Given the description of an element on the screen output the (x, y) to click on. 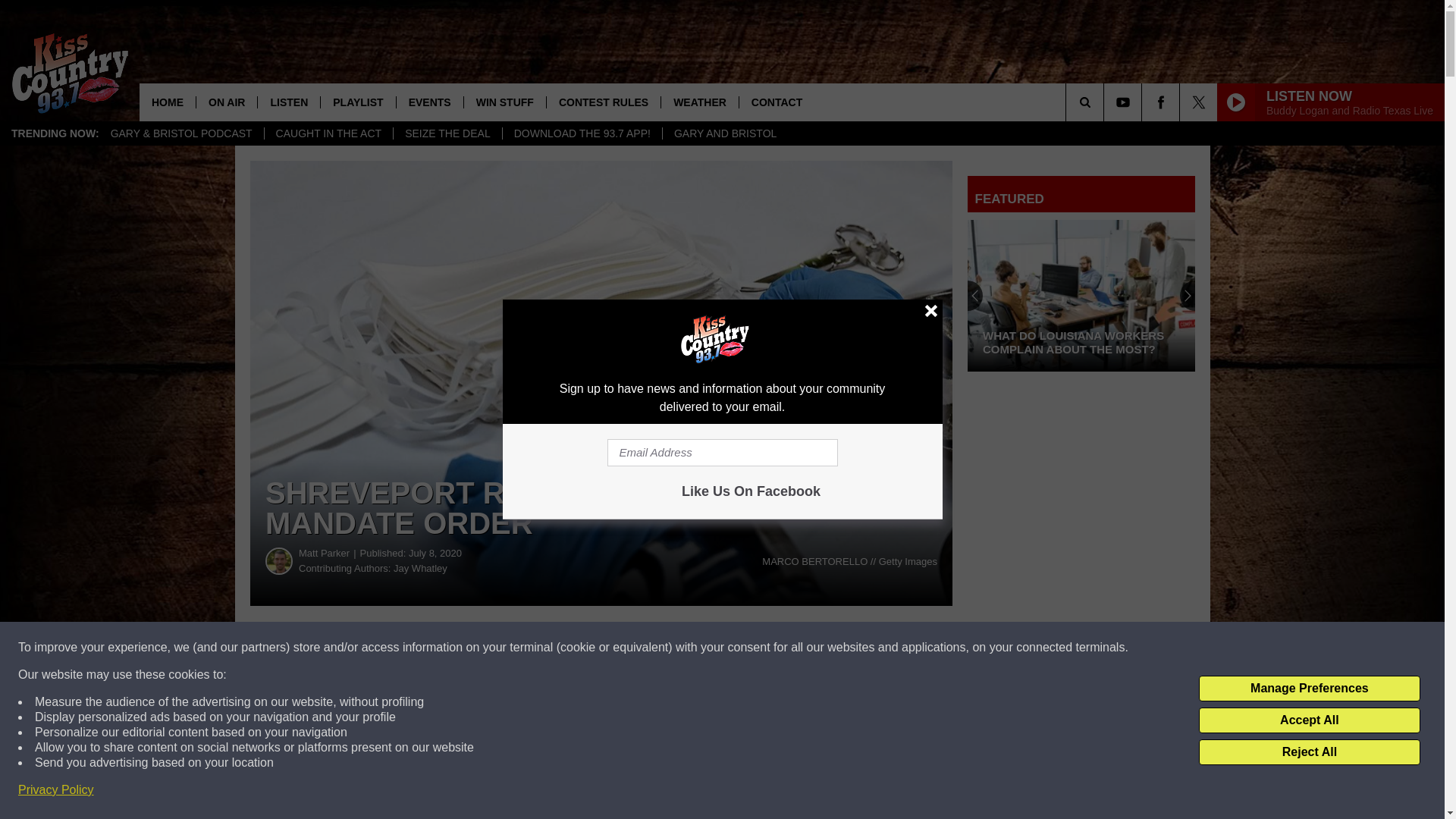
Share on Twitter (741, 647)
DOWNLOAD THE 93.7 APP! (582, 133)
CONTEST RULES (603, 102)
Privacy Policy (55, 789)
Manage Preferences (1309, 688)
Share on Facebook (460, 647)
ON AIR (226, 102)
WIN STUFF (504, 102)
PLAYLIST (357, 102)
SEIZE THE DEAL (447, 133)
CAUGHT IN THE ACT (328, 133)
Reject All (1309, 751)
SEARCH (1106, 102)
SEARCH (1106, 102)
Email Address (722, 452)
